Given the description of an element on the screen output the (x, y) to click on. 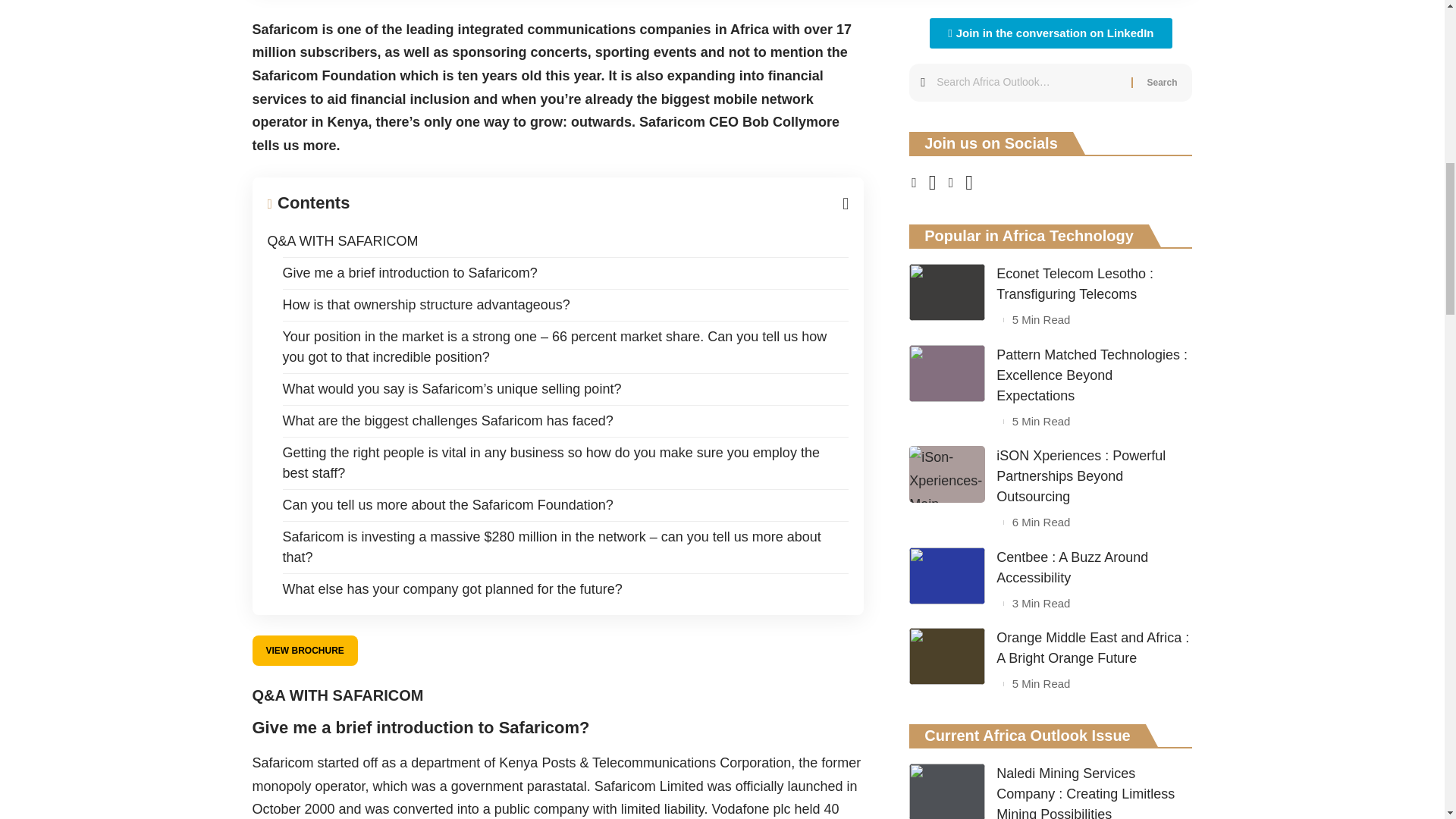
Search (1161, 82)
iSON Xperiences : Powerful Partnerships Beyond Outsourcing (946, 473)
Econet Telecom Lesotho : Transfiguring Telecoms (946, 292)
Centbee : A Buzz Around Accessibility (946, 575)
Orange Middle East and Africa : A Bright Orange Future (946, 656)
